Given the description of an element on the screen output the (x, y) to click on. 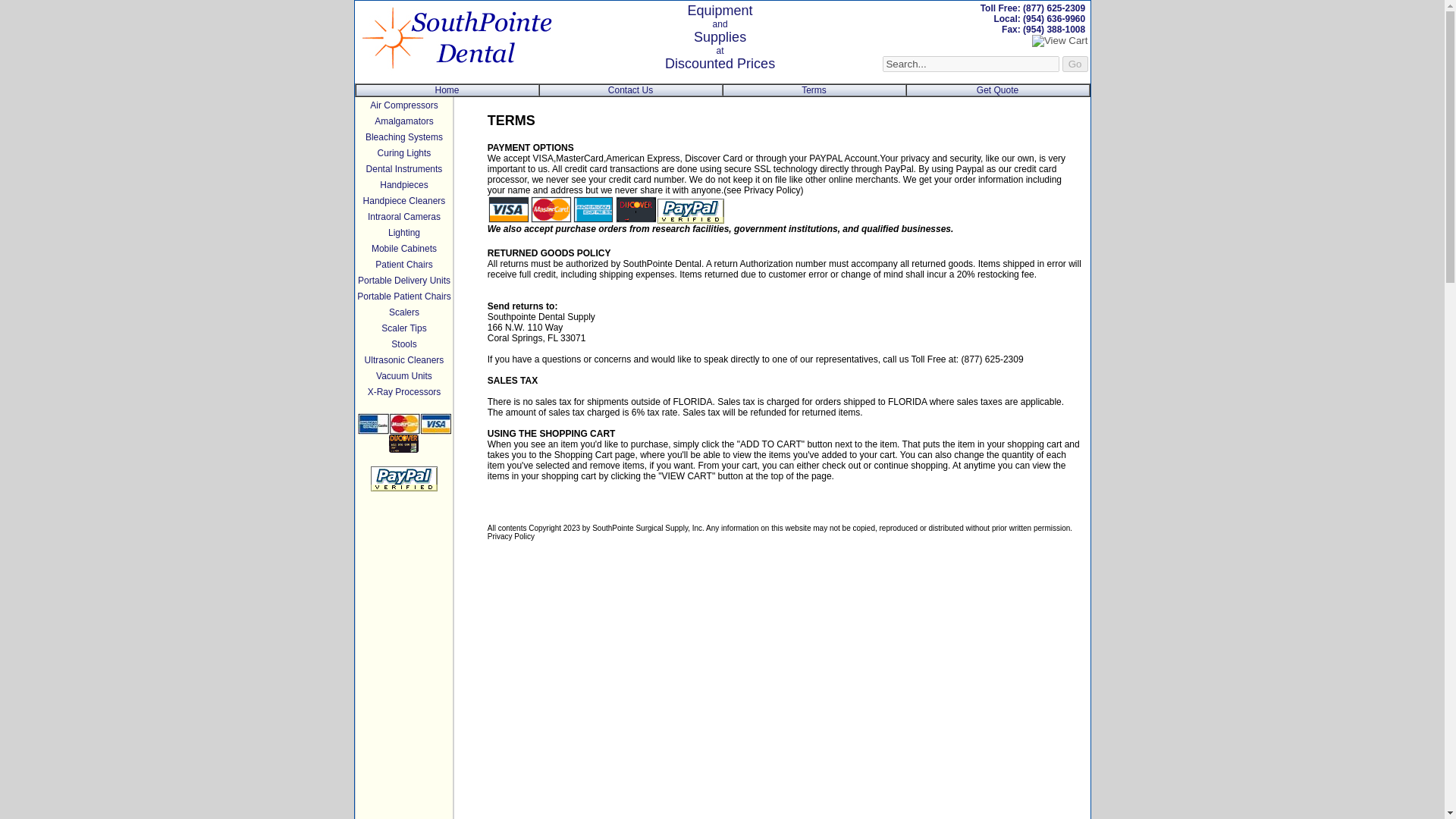
Portable Delivery Units (403, 279)
Handpieces (404, 184)
Lighting (404, 232)
Terms (814, 90)
Handpiece Cleaners (403, 200)
Patient Chairs (403, 264)
Intraoral Cameras (404, 215)
Dental Instruments (404, 168)
Stools (403, 343)
Mobile Cabinets (403, 247)
